Given the description of an element on the screen output the (x, y) to click on. 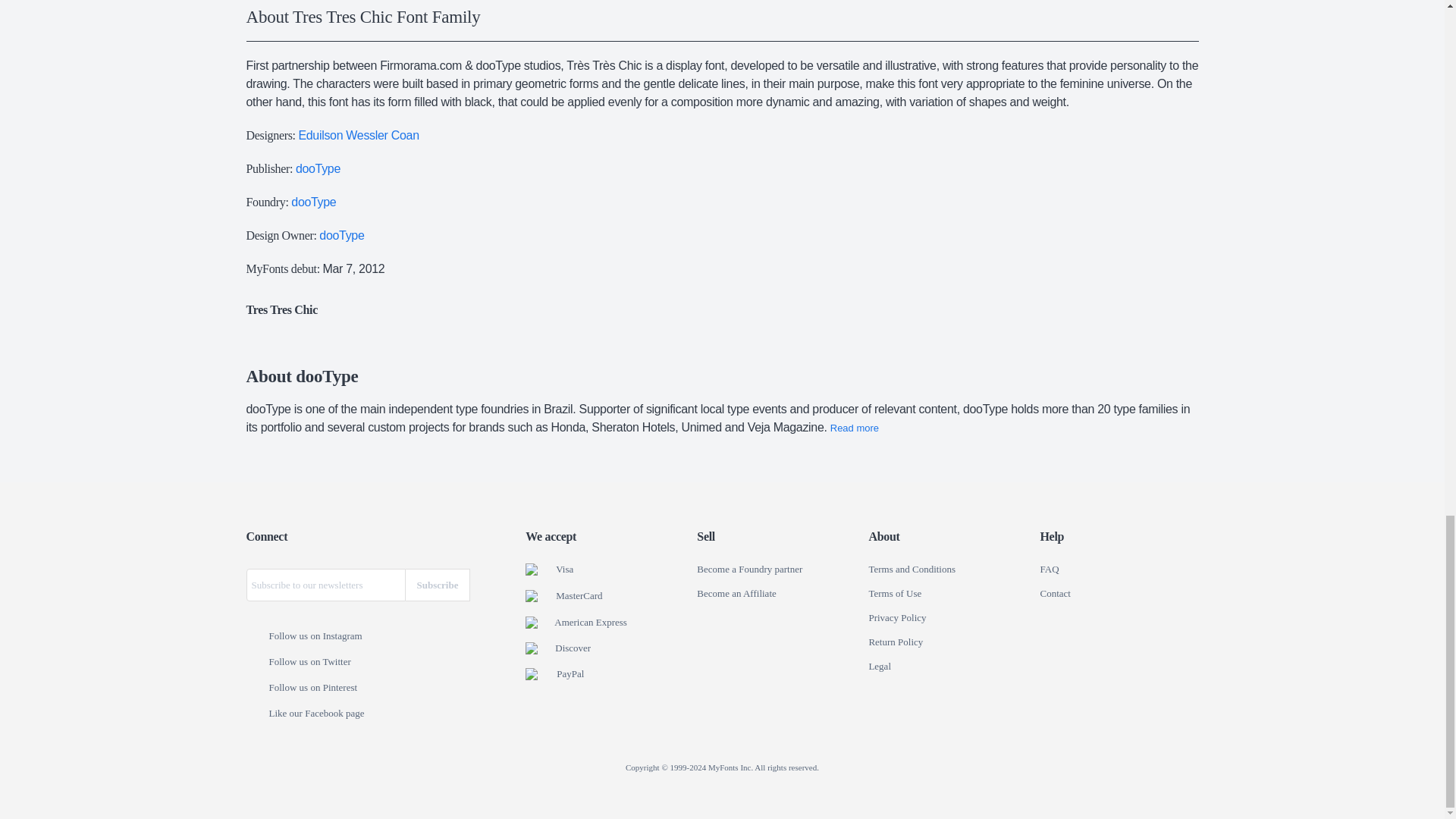
Become a Foundry partner (749, 569)
Follow us on Twitter (256, 662)
Please fill out this field (325, 584)
Join our affiliate program (736, 593)
Follow us on Instagram (256, 636)
Follow us on Pinterest (256, 688)
Like our Facebook page (256, 714)
